Given the description of an element on the screen output the (x, y) to click on. 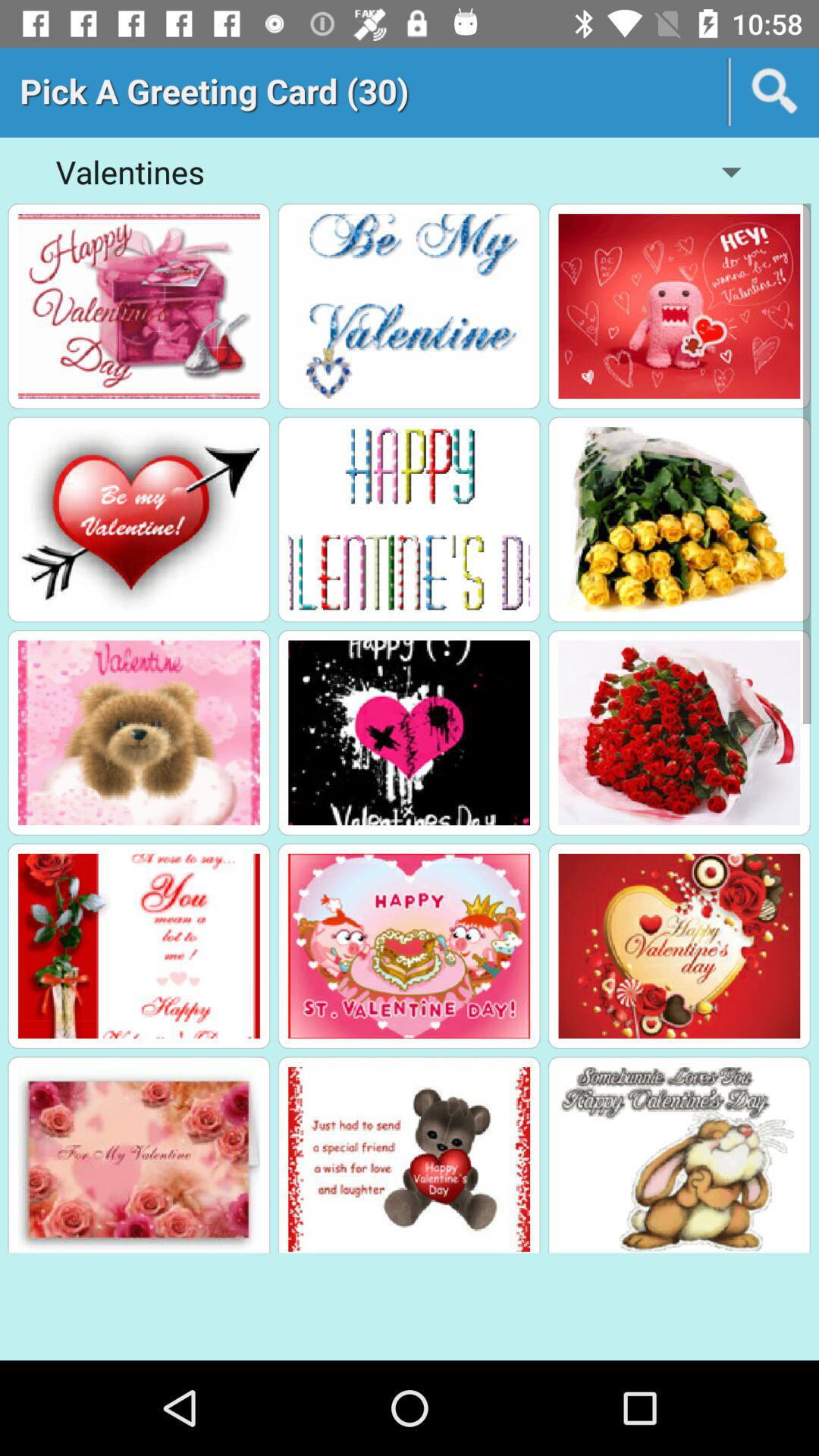
select item (138, 732)
